Given the description of an element on the screen output the (x, y) to click on. 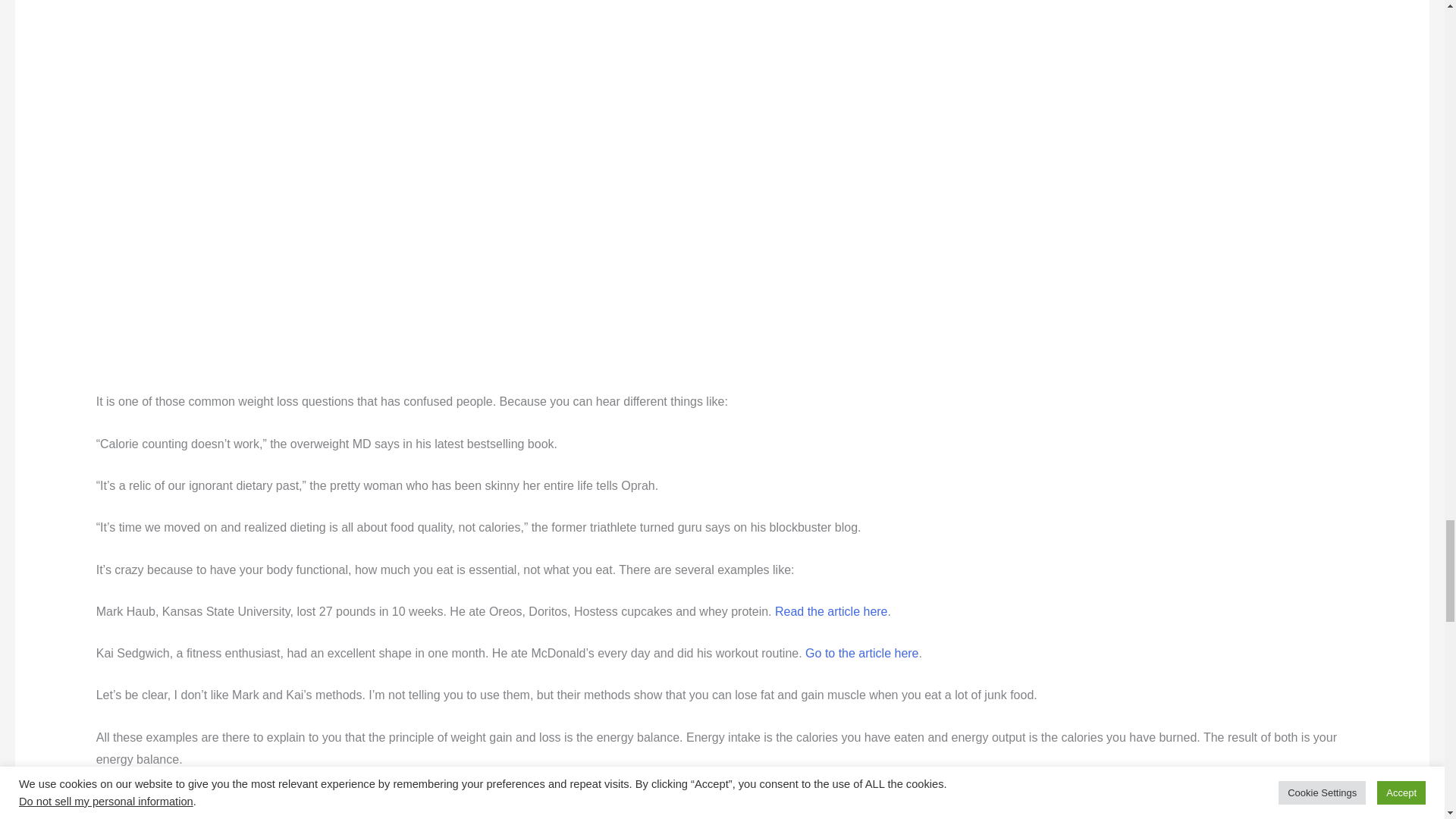
Go to the article here (861, 653)
Read the article here (831, 611)
